Given the description of an element on the screen output the (x, y) to click on. 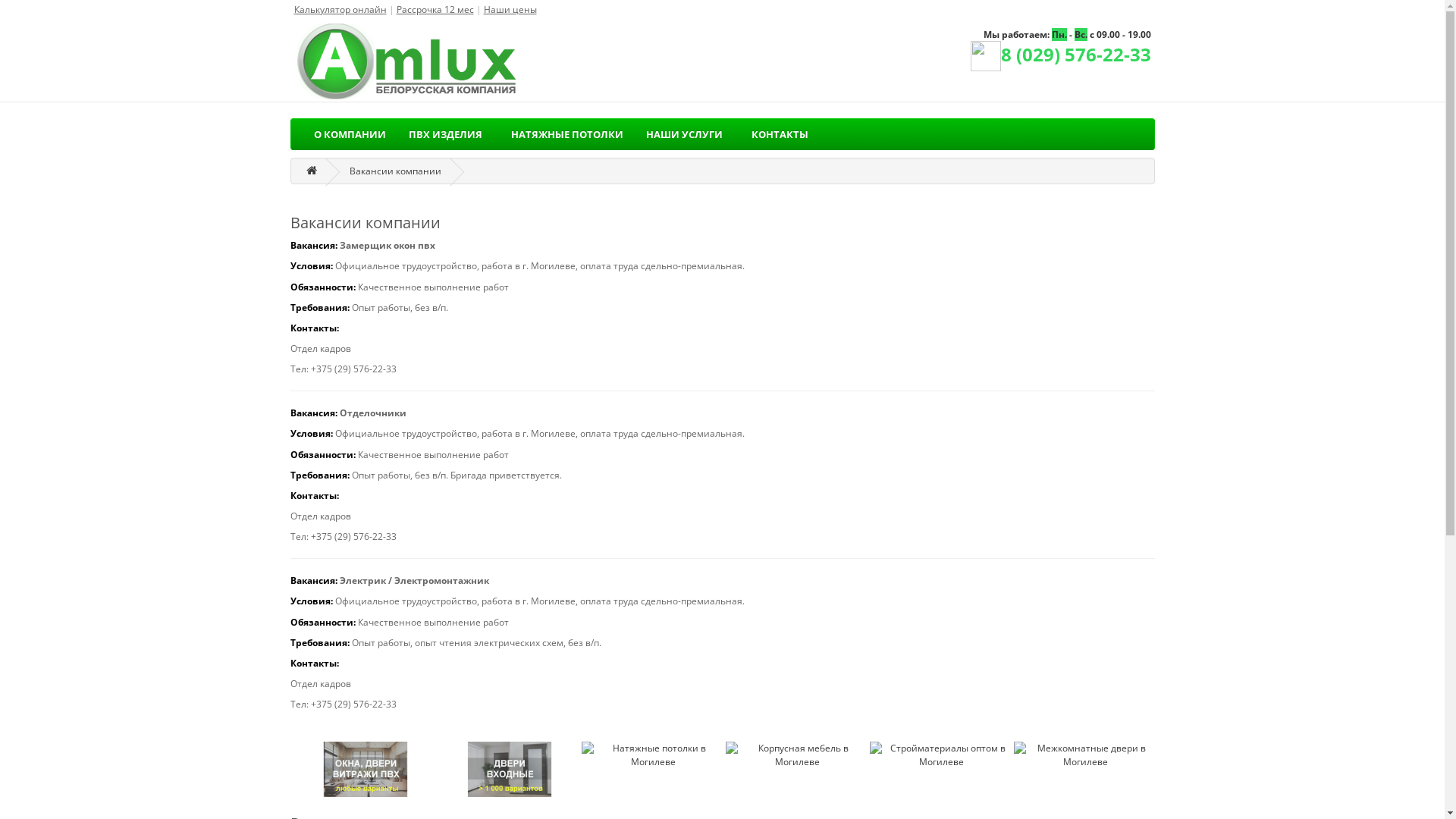
8 (029) 576-22-33 Element type: text (1060, 57)
